Given the description of an element on the screen output the (x, y) to click on. 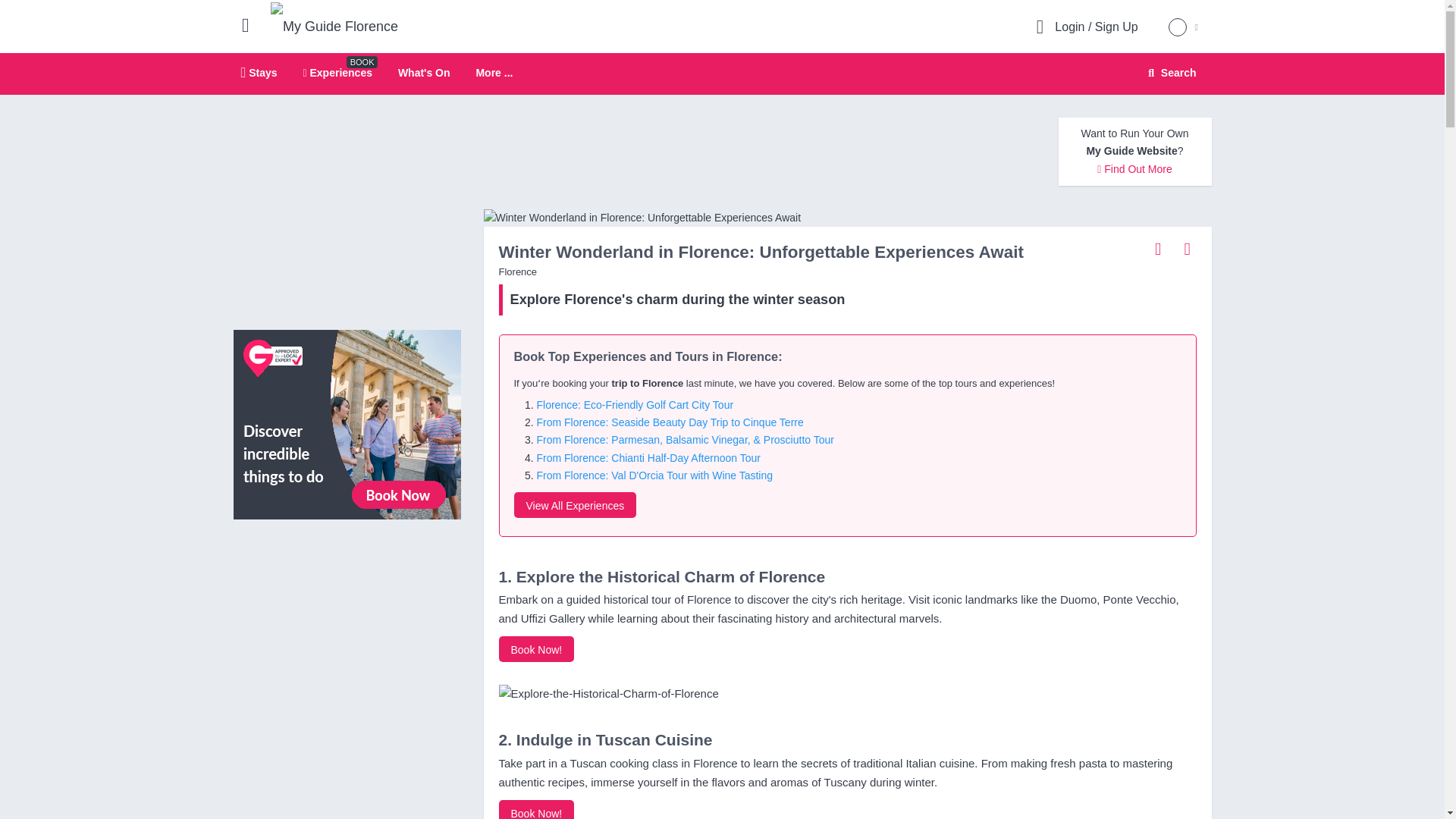
More ... (494, 72)
Stays (259, 72)
Search Website (1170, 73)
What's On (423, 72)
Toggle Menu (721, 74)
Share with Friends (251, 24)
View All Experiences (1157, 248)
Search (575, 504)
My Guide Florence (1169, 72)
Add to My Guide (333, 26)
View All Experiences (1186, 248)
Experiences (346, 423)
